Given the description of an element on the screen output the (x, y) to click on. 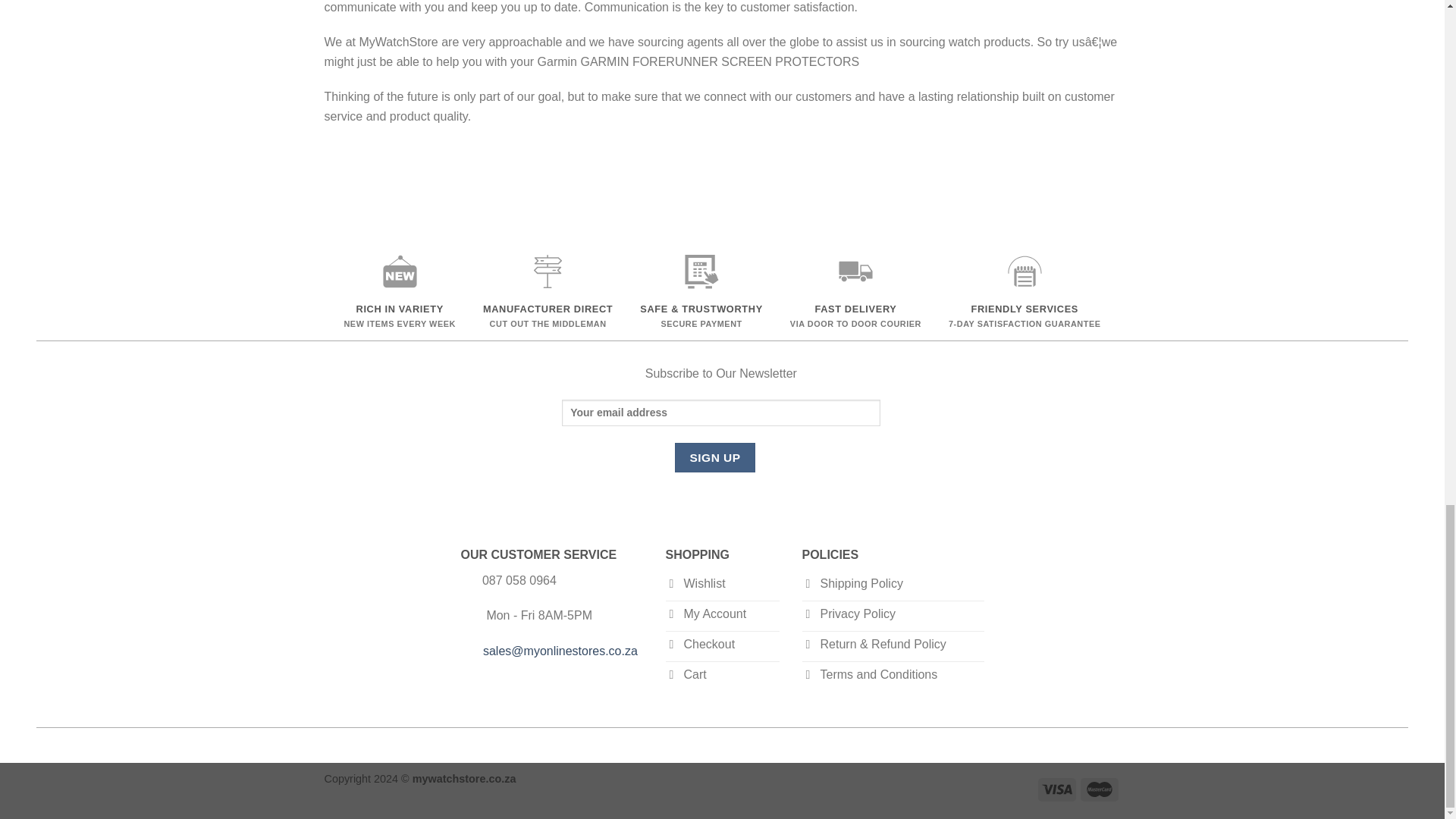
Sign up (715, 457)
